Given the description of an element on the screen output the (x, y) to click on. 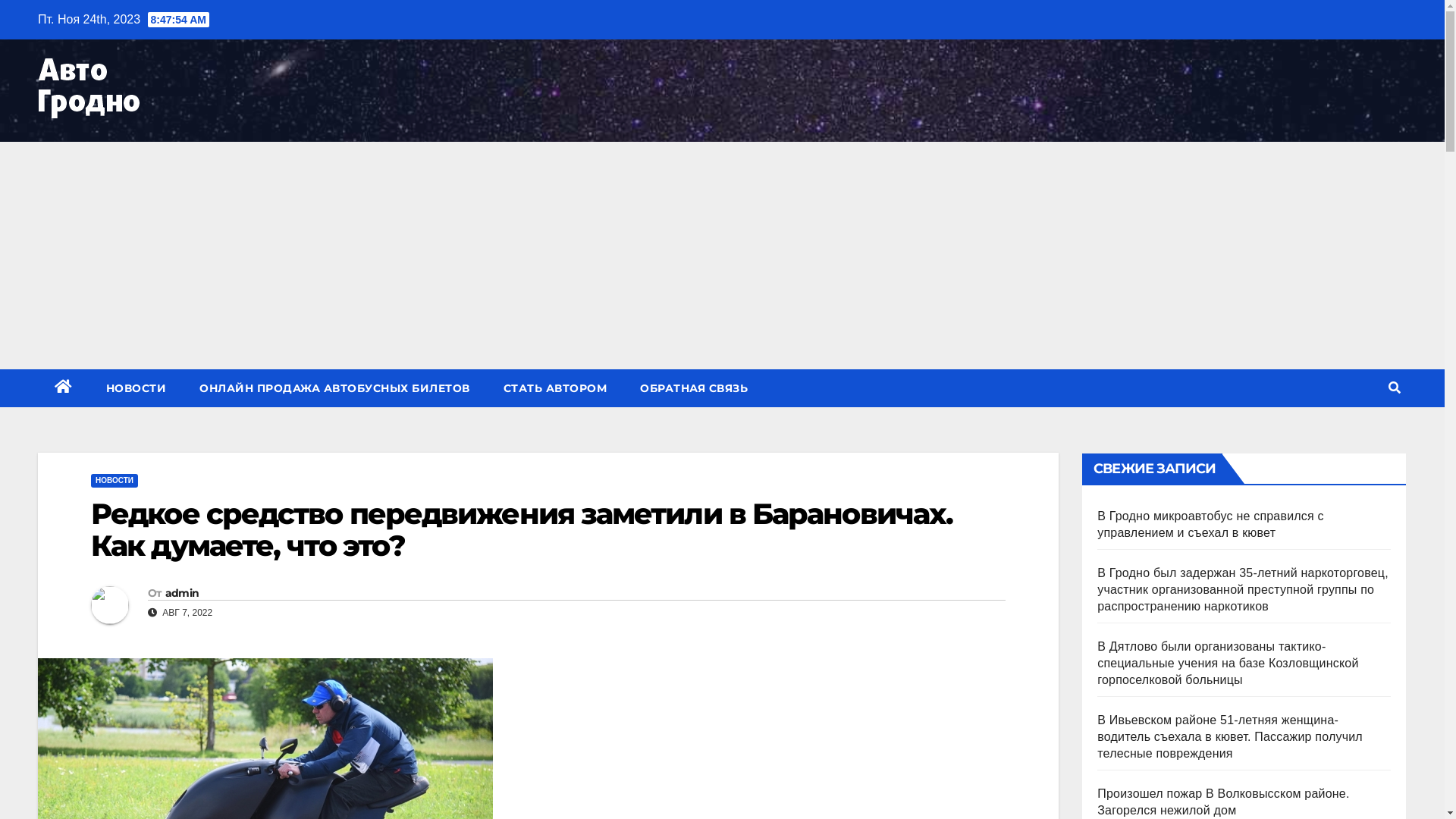
Advertisement Element type: hover (721, 255)
admin Element type: text (182, 592)
